Given the description of an element on the screen output the (x, y) to click on. 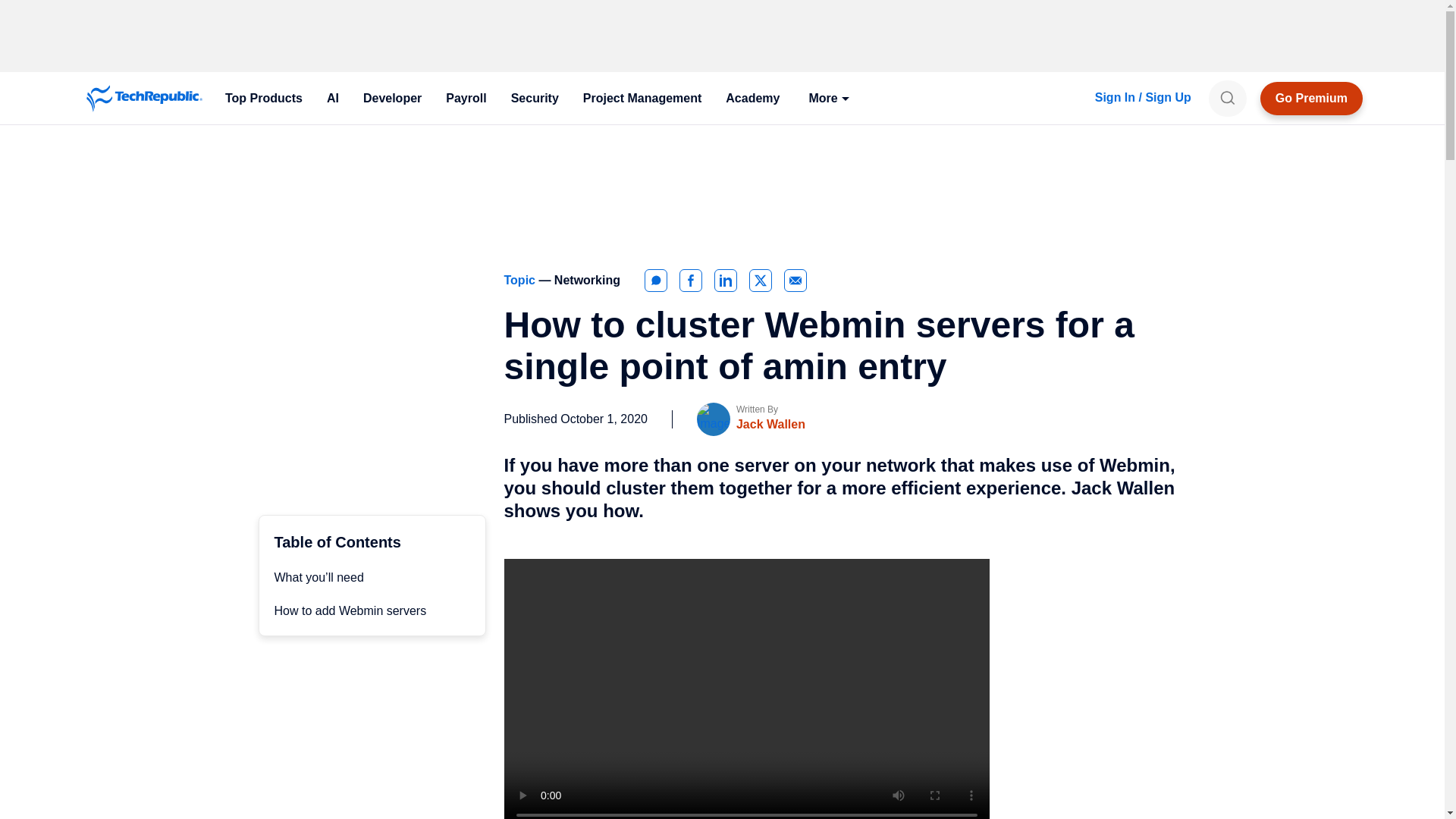
Payroll (465, 98)
TechRepublic (143, 98)
Top Products (263, 98)
Topic (520, 279)
Security (534, 98)
TechRepublic (143, 98)
AI (332, 98)
TechRepublic (143, 98)
Developer (392, 98)
TechRepublic Premium (1311, 98)
Project Management (641, 98)
Academy (752, 98)
 How to add Webmin servers  (350, 610)
Go Premium (1311, 98)
